Given the description of an element on the screen output the (x, y) to click on. 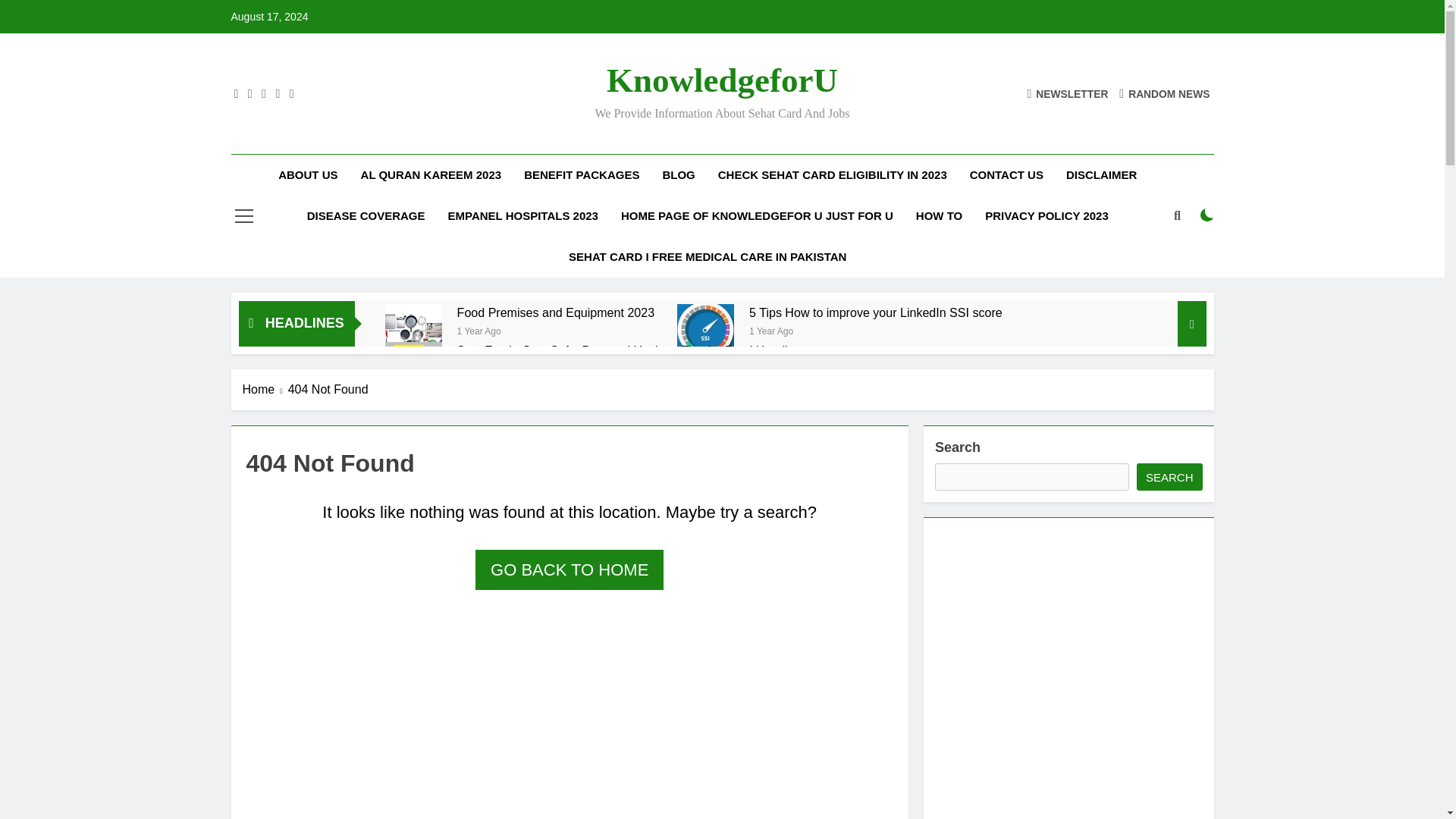
HOW TO (939, 215)
5 Tips How to improve your LinkedIn SSI score (705, 332)
DISEASE COVERAGE (365, 215)
HOME PAGE OF KNOWLEDGEFOR U JUST FOR U (757, 215)
5 Tips How to improve your LinkedIn SSI score (876, 312)
5 Tips How to improve your LinkedIn SSI score (876, 312)
Food Premises and Equipment 2023 (555, 312)
RANDOM NEWS (1164, 92)
1 Year Ago (771, 329)
